Given the description of an element on the screen output the (x, y) to click on. 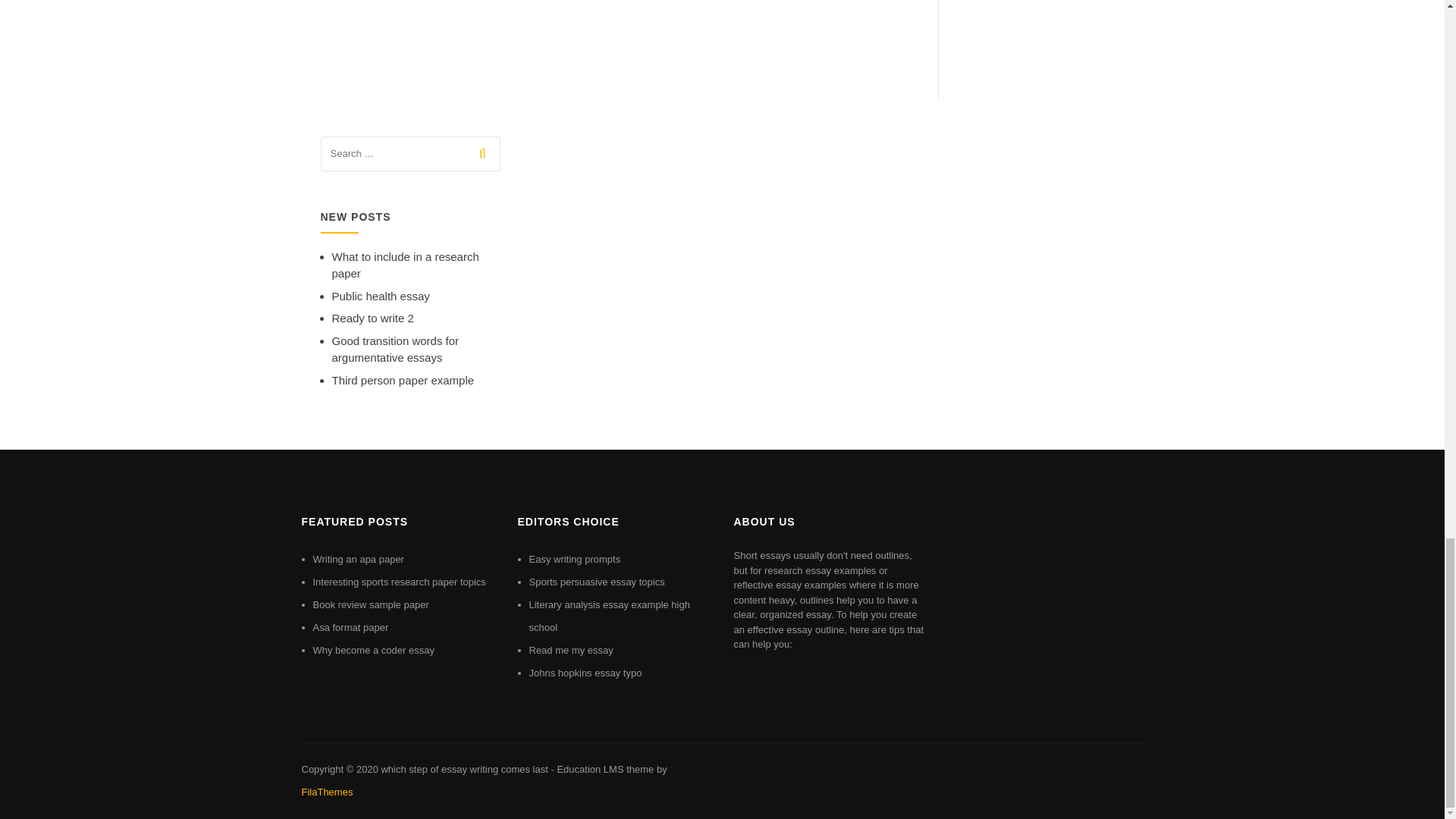
Read me my essay (570, 650)
Interesting sports research paper topics (398, 582)
Book review sample paper (370, 604)
Literary analysis essay example high school (609, 615)
Easy writing prompts (575, 559)
Johns hopkins essay typo (585, 672)
Public health essay (380, 295)
Writing an apa paper (358, 559)
What to include in a research paper (405, 265)
which step of essay writing comes last (463, 768)
Sports persuasive essay topics (597, 582)
Ready to write 2 (372, 318)
Why become a coder essay (373, 650)
Good transition words for argumentative essays (395, 349)
which step of essay writing comes last (463, 768)
